Given the description of an element on the screen output the (x, y) to click on. 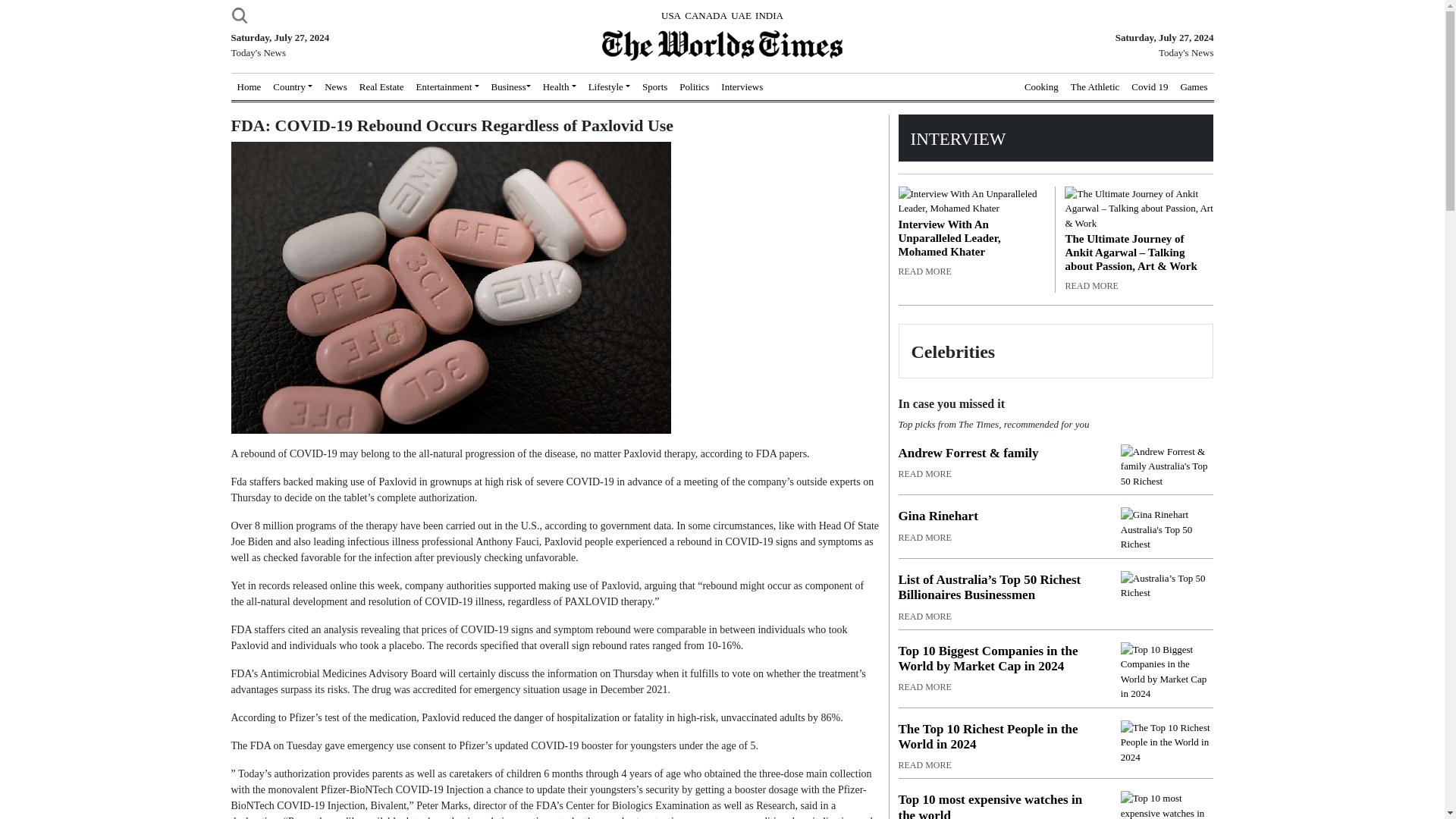
Country (292, 86)
Interview With An Unparalleled Leader, Mohamed Khater (971, 201)
Business (510, 86)
USA (671, 15)
Entertainment (447, 86)
INDIA (769, 15)
Health (559, 86)
Real Estate (381, 86)
News (335, 86)
CANADA (705, 15)
Home (248, 86)
The Worlds Times (722, 45)
Lifestyle (609, 86)
UAE (740, 15)
